Given the description of an element on the screen output the (x, y) to click on. 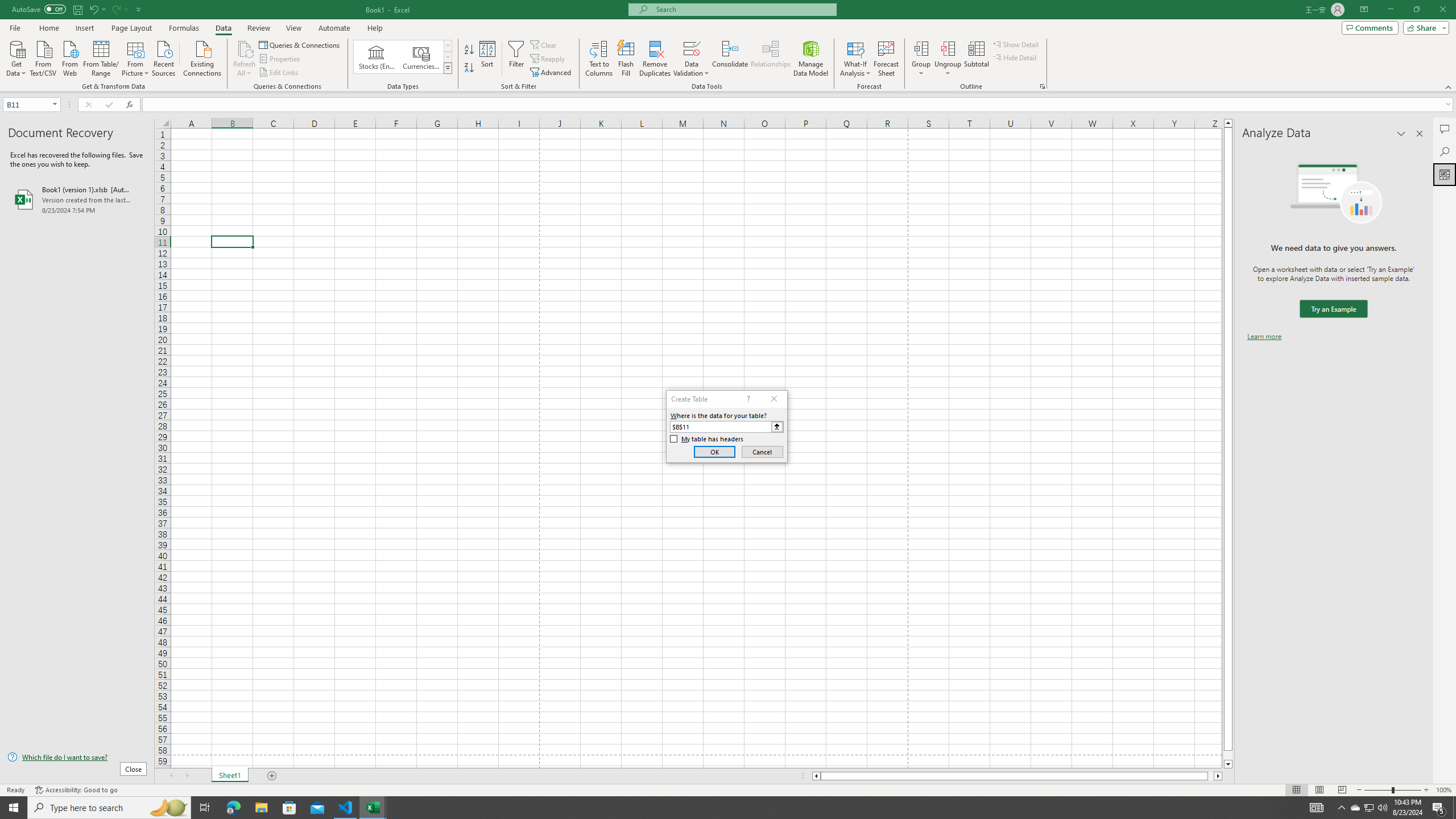
Subtotal (976, 58)
Recent Sources (163, 57)
